Given the description of an element on the screen output the (x, y) to click on. 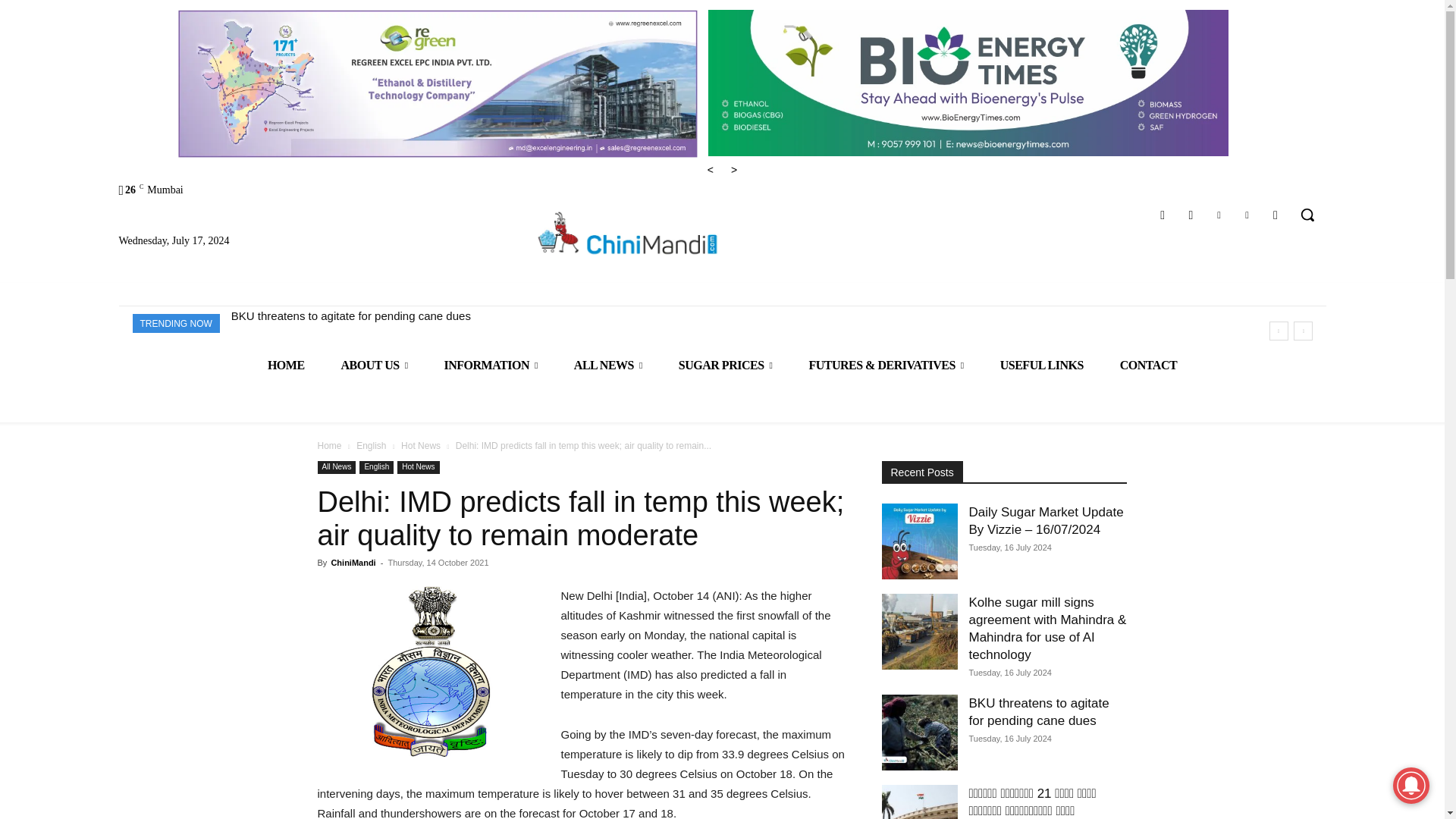
Youtube (1275, 214)
Instagram (1190, 214)
Linkedin (1218, 214)
BKU threatens to agitate for pending cane dues (350, 315)
Facebook (1163, 214)
Twitter (1246, 214)
